Given the description of an element on the screen output the (x, y) to click on. 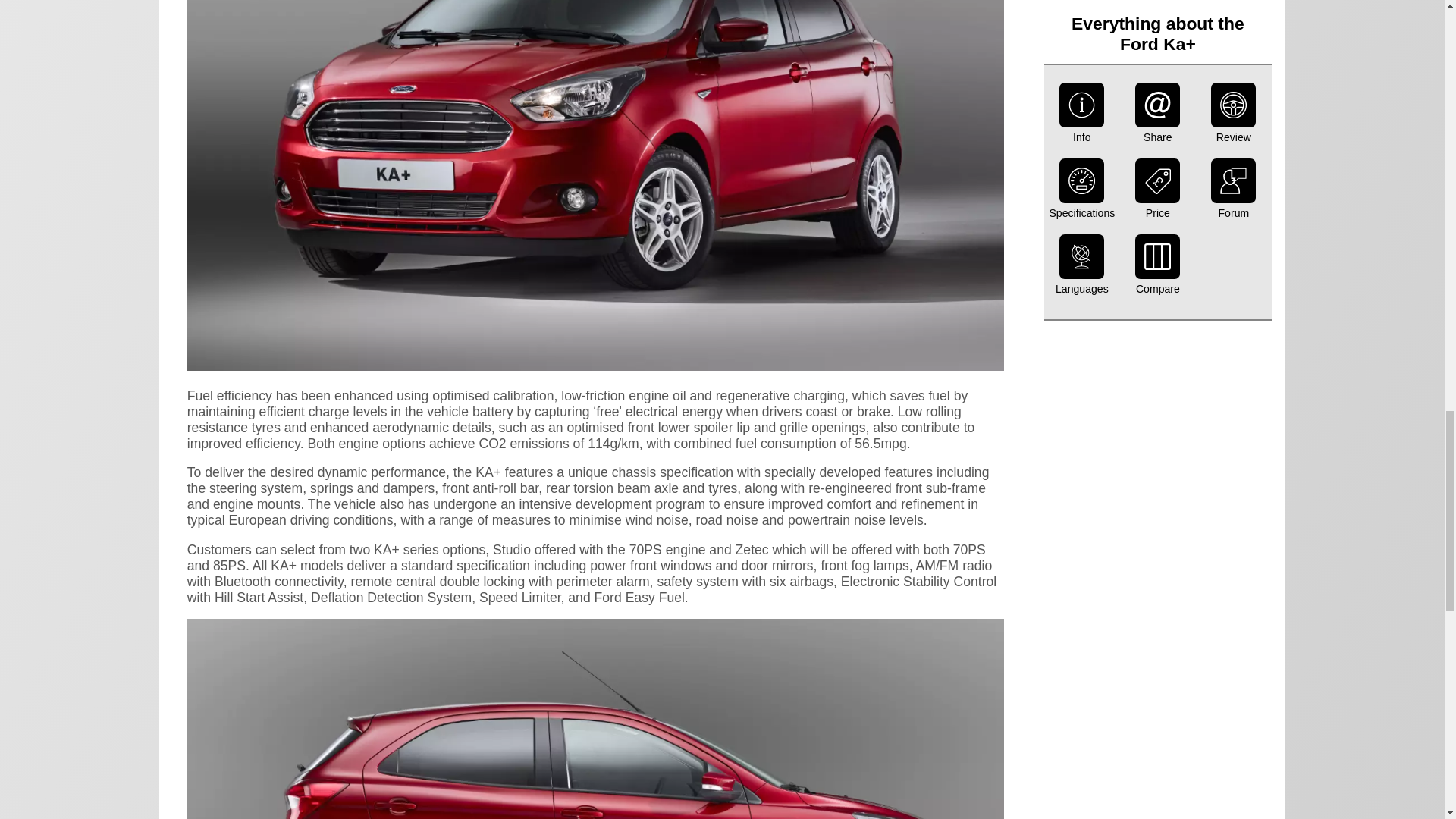
Click for slideshow (595, 365)
